Given the description of an element on the screen output the (x, y) to click on. 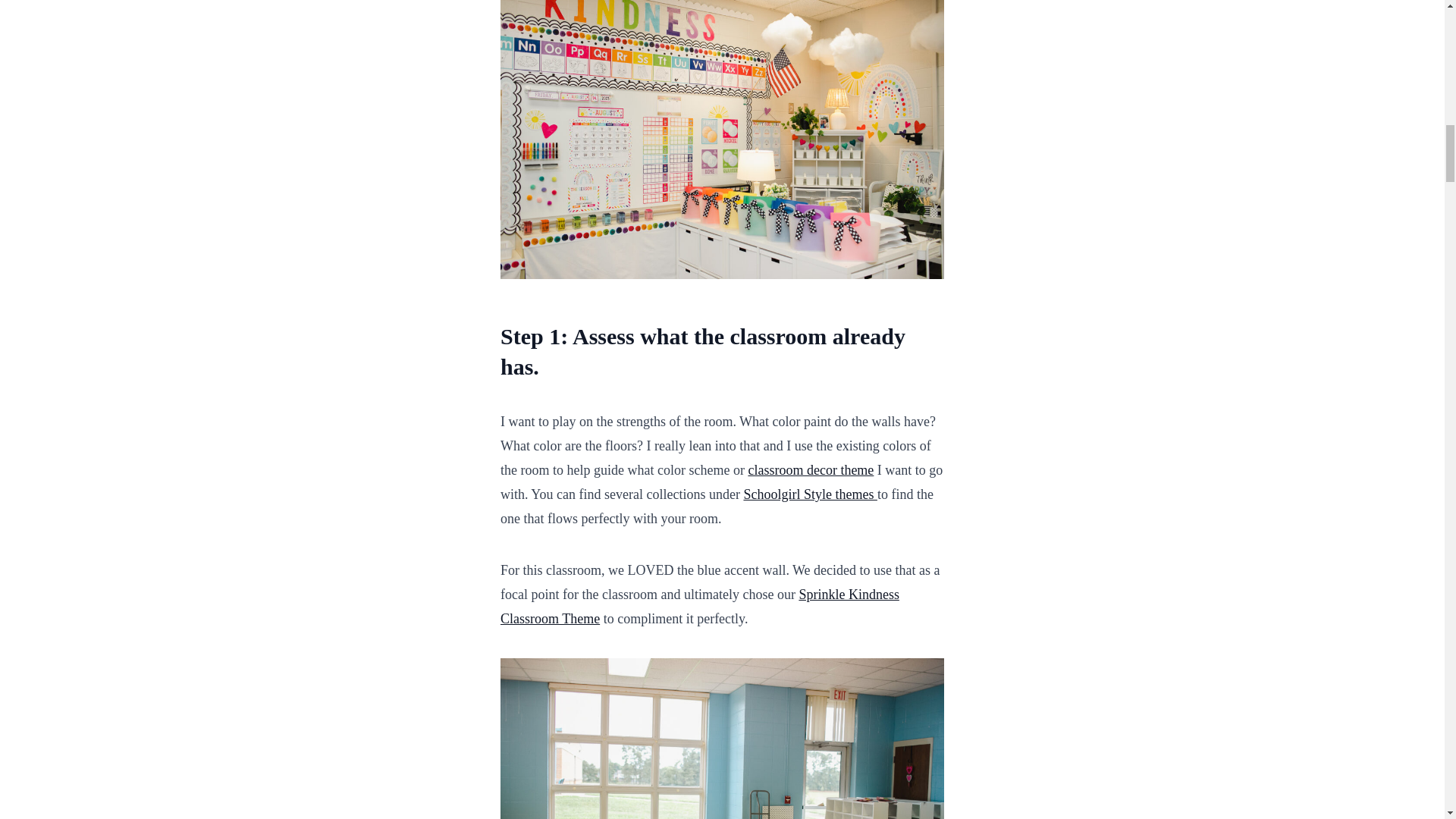
Sprinkle Kindness Classroom Theme (699, 606)
Schoolgirl Style themes (809, 494)
classroom decor theme (810, 469)
